Given the description of an element on the screen output the (x, y) to click on. 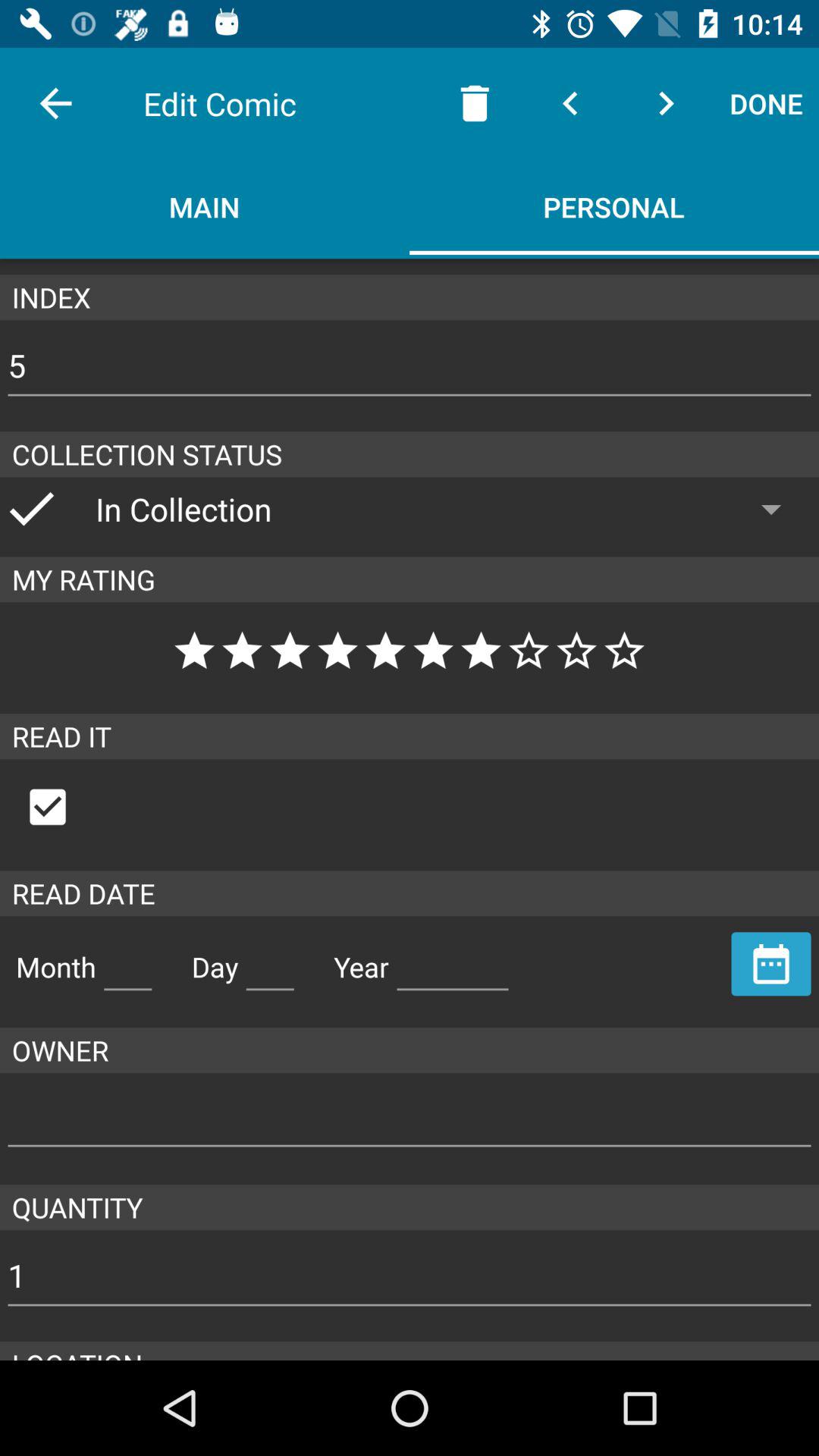
enter the day of a month (270, 961)
